Given the description of an element on the screen output the (x, y) to click on. 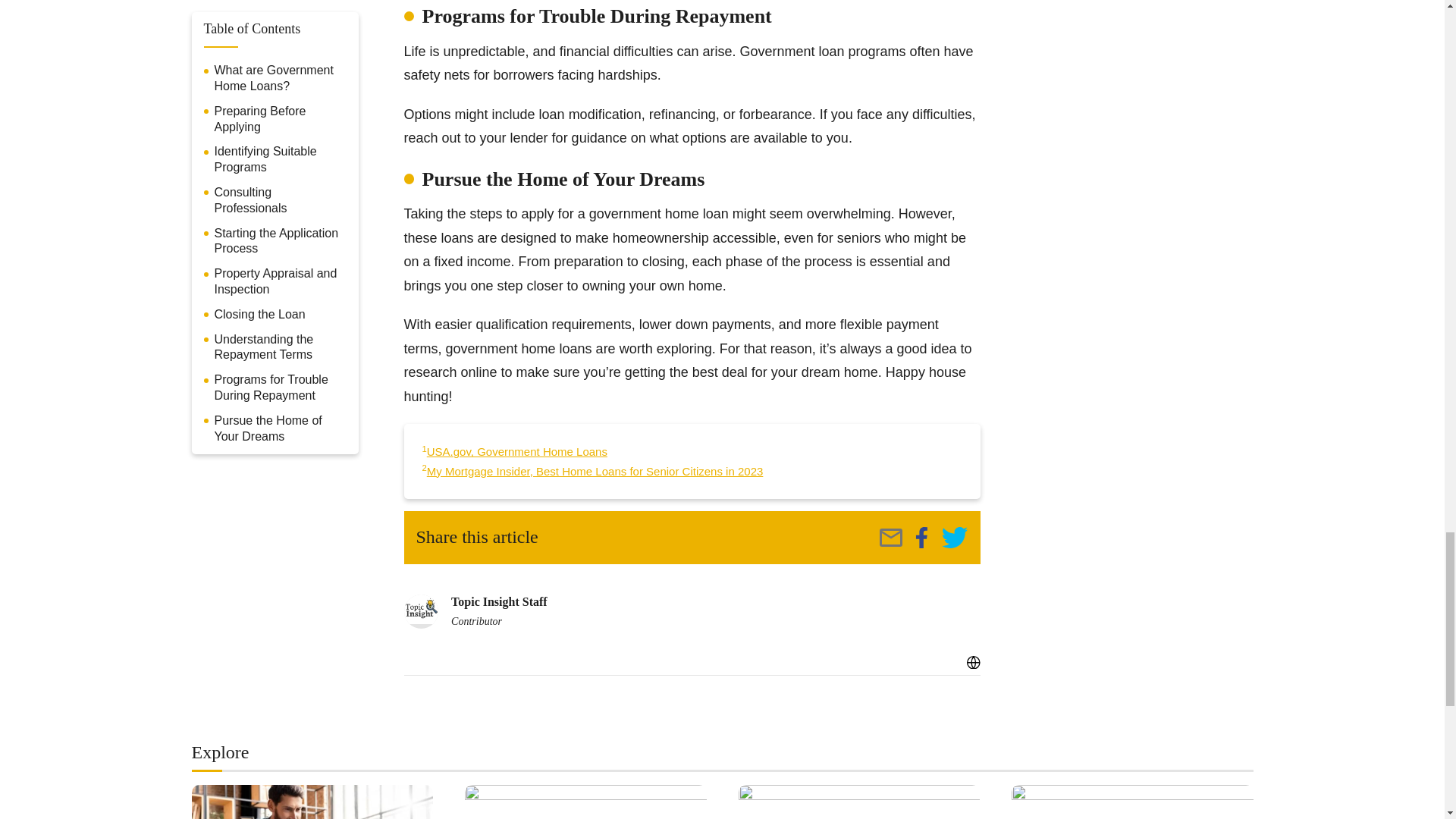
USA.gov, Government Home Loans (516, 451)
Share by Email (890, 537)
